Given the description of an element on the screen output the (x, y) to click on. 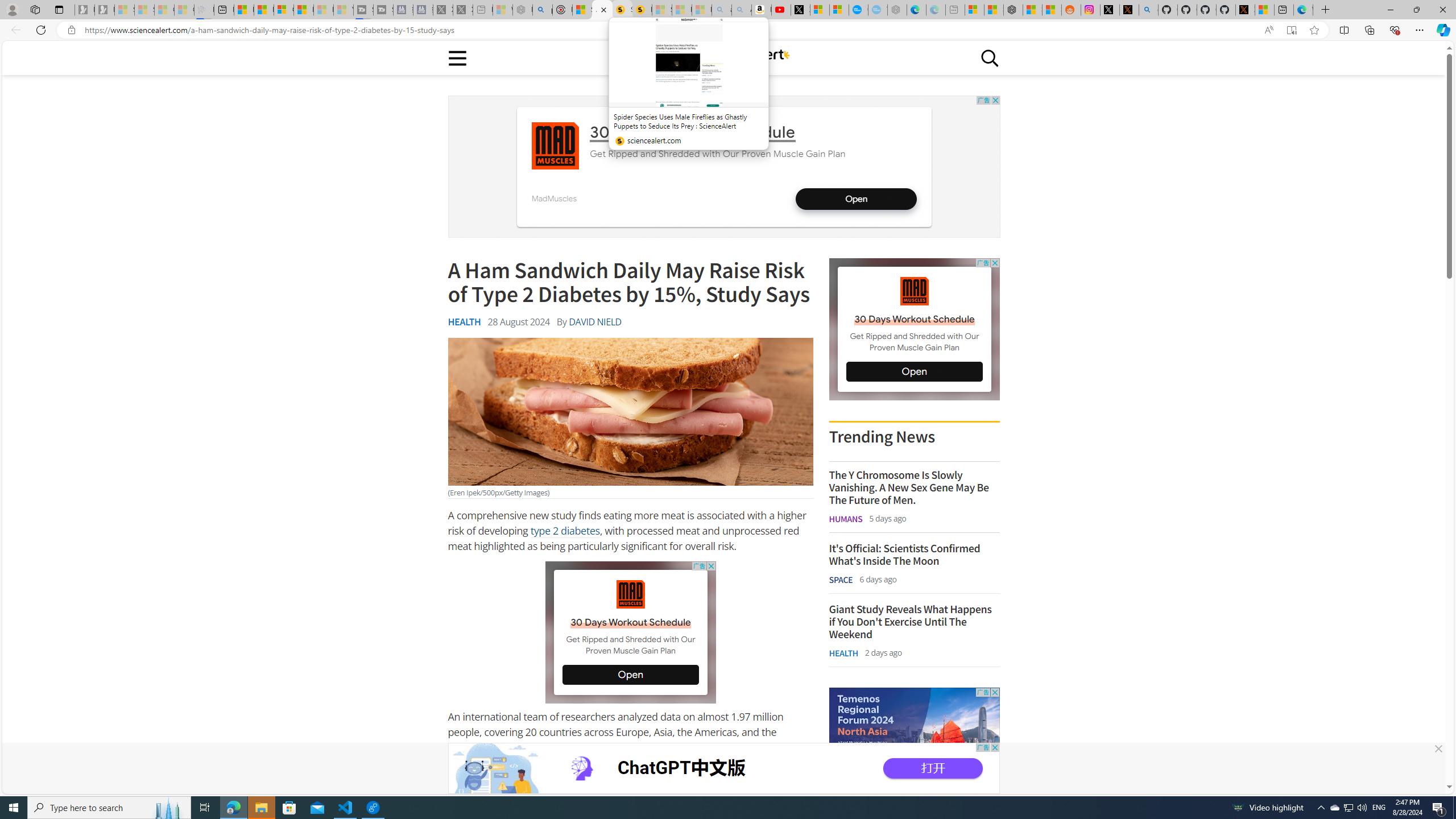
Ham sandwich (629, 411)
Shanghai, China Weather trends | Microsoft Weather (1050, 9)
HUMANS (845, 518)
HEALTH (842, 653)
type 2 diabetes (564, 531)
Enter Immersive Reader (F9) (1291, 29)
Main menu (456, 57)
